Given the description of an element on the screen output the (x, y) to click on. 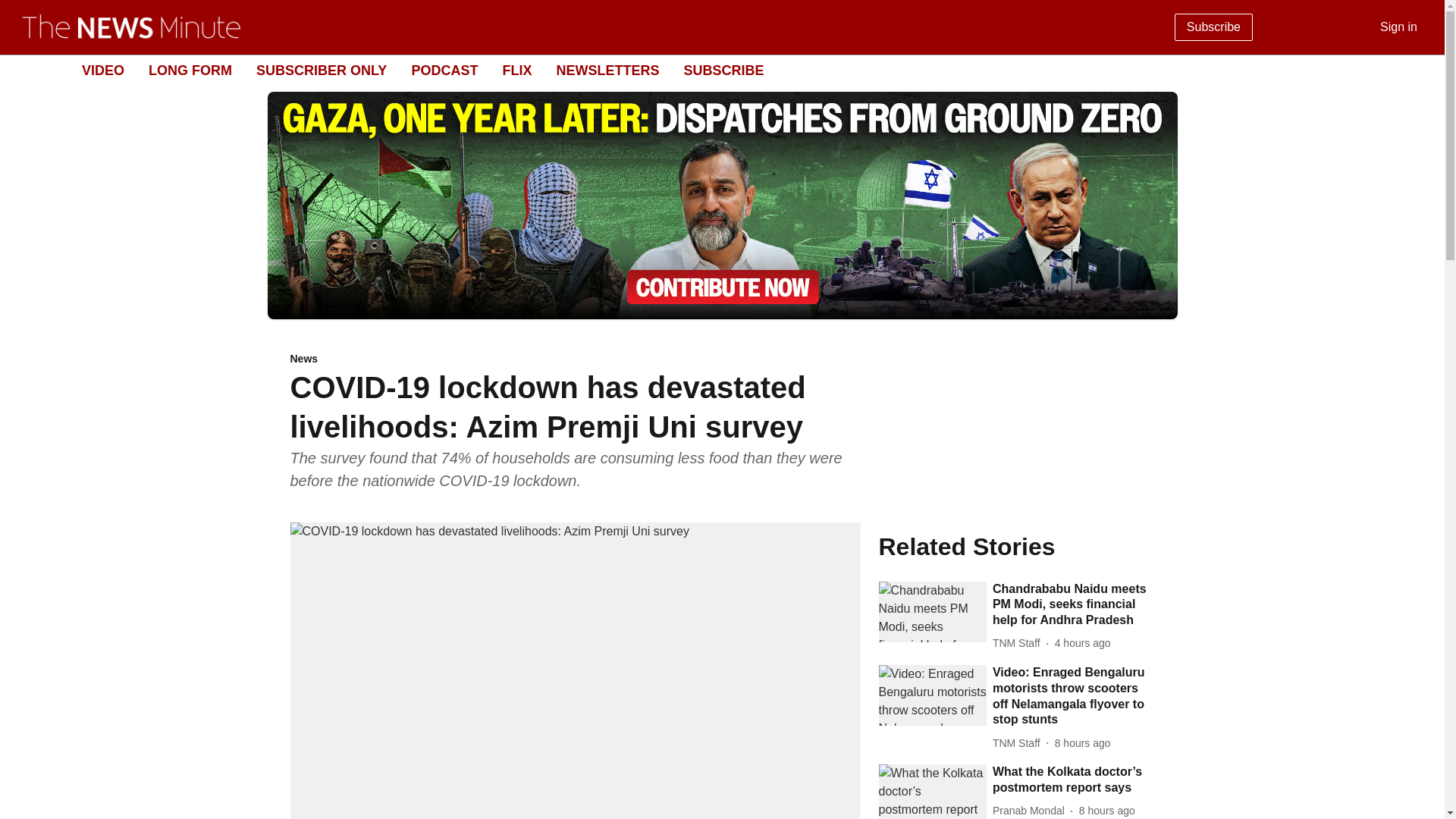
News (574, 359)
VIDEO (102, 70)
LONG FORM (189, 70)
Dark Mode (1415, 70)
SUBSCRIBER ONLY (321, 70)
TNM Staff (1019, 743)
TNM Staff (1019, 643)
Related Stories (1015, 545)
